Given the description of an element on the screen output the (x, y) to click on. 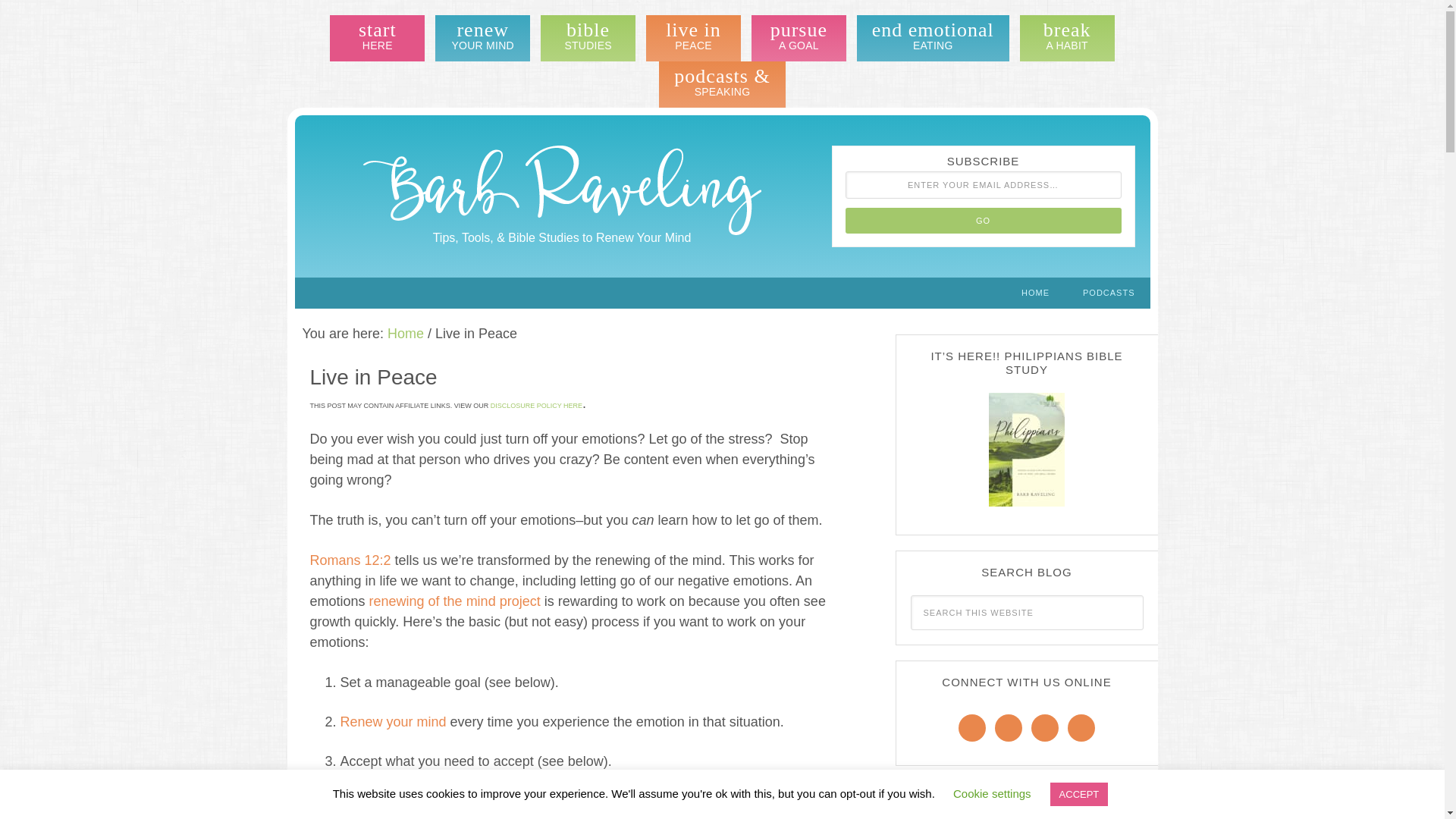
Search (933, 38)
Search (377, 38)
